Given the description of an element on the screen output the (x, y) to click on. 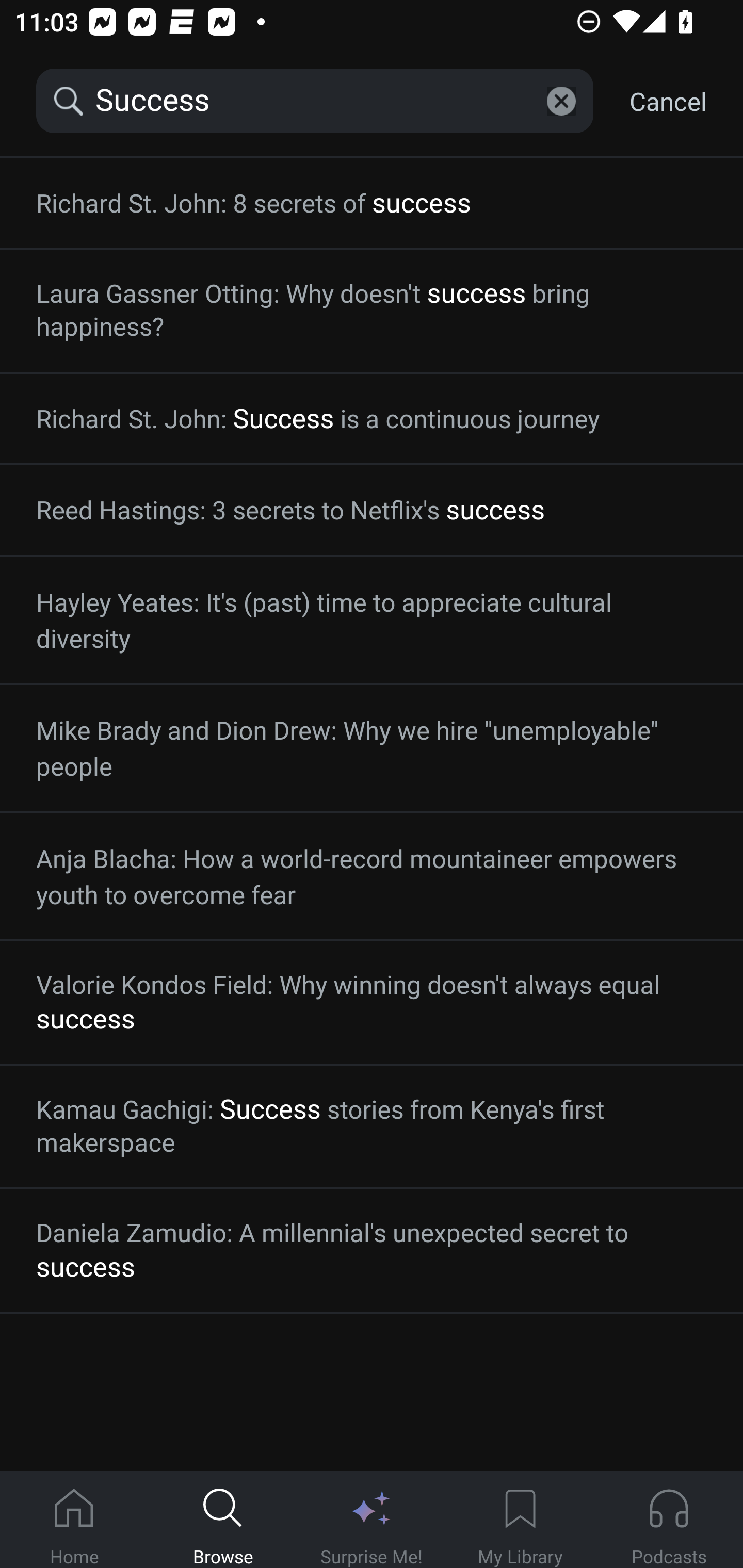
Success (314, 100)
Cancel (667, 100)
Richard St. John: 8 secrets of success (371, 202)
Richard St. John: Success is a continuous journey (371, 418)
Reed Hastings: 3 secrets to Netflix's success (371, 510)
Home (74, 1520)
Browse (222, 1520)
Surprise Me! (371, 1520)
My Library (519, 1520)
Podcasts (668, 1520)
